Given the description of an element on the screen output the (x, y) to click on. 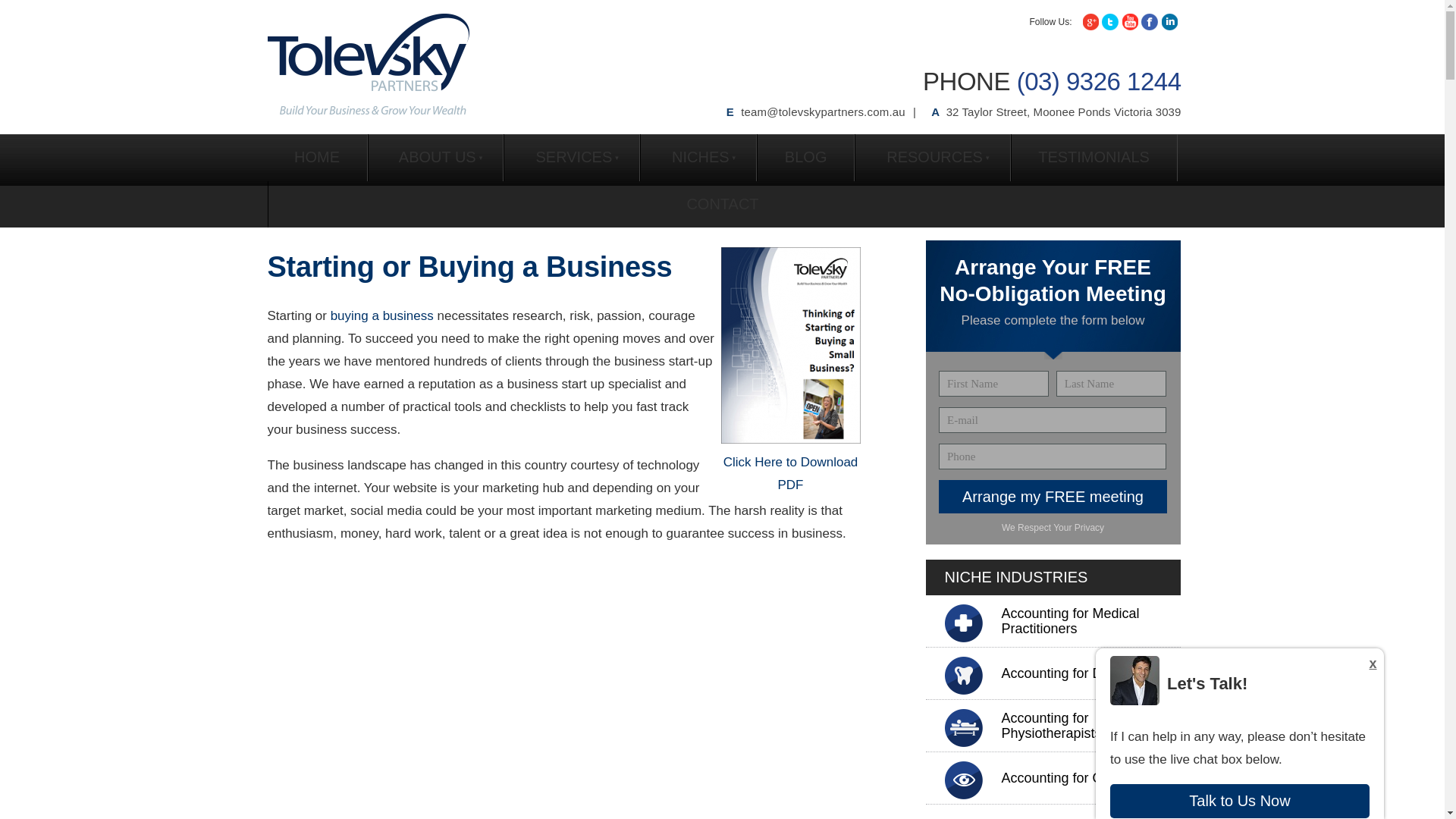
ABOUT US (435, 157)
HOME (316, 157)
NICHES (697, 157)
SERVICES (571, 157)
